Given the description of an element on the screen output the (x, y) to click on. 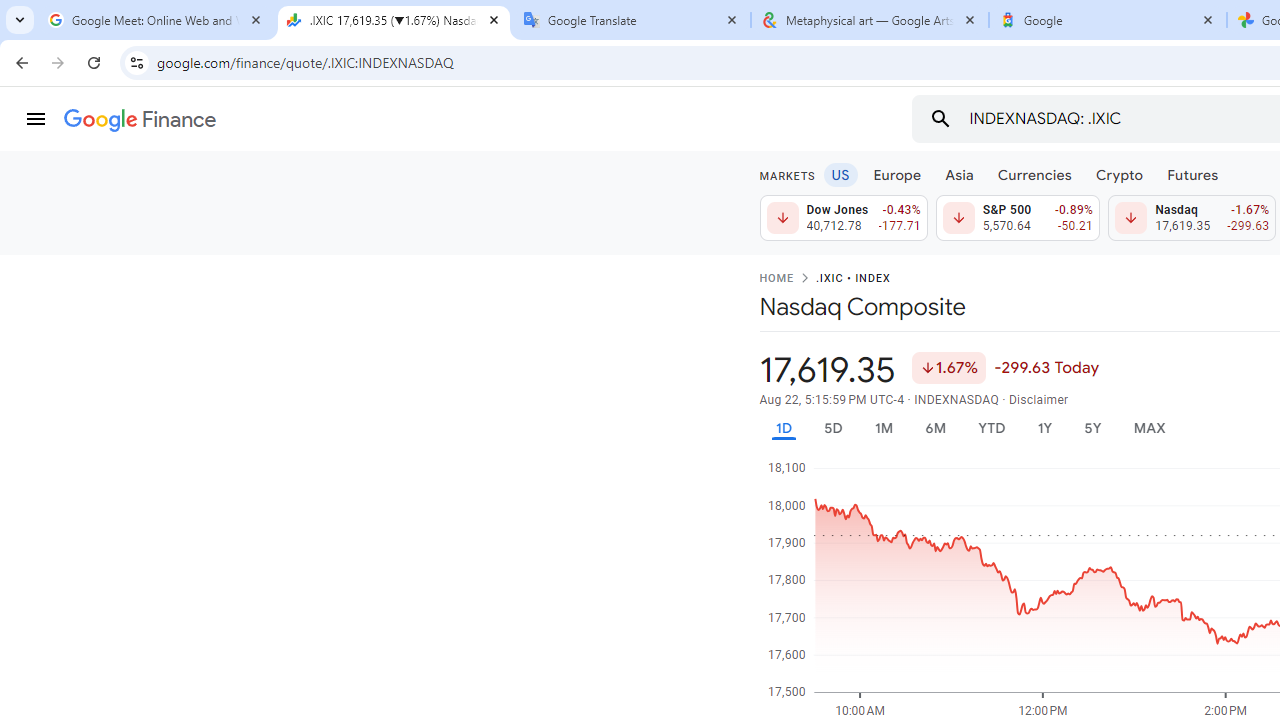
YTD (991, 427)
Futures (1192, 174)
Currencies (1034, 174)
Main menu (35, 119)
